Given the description of an element on the screen output the (x, y) to click on. 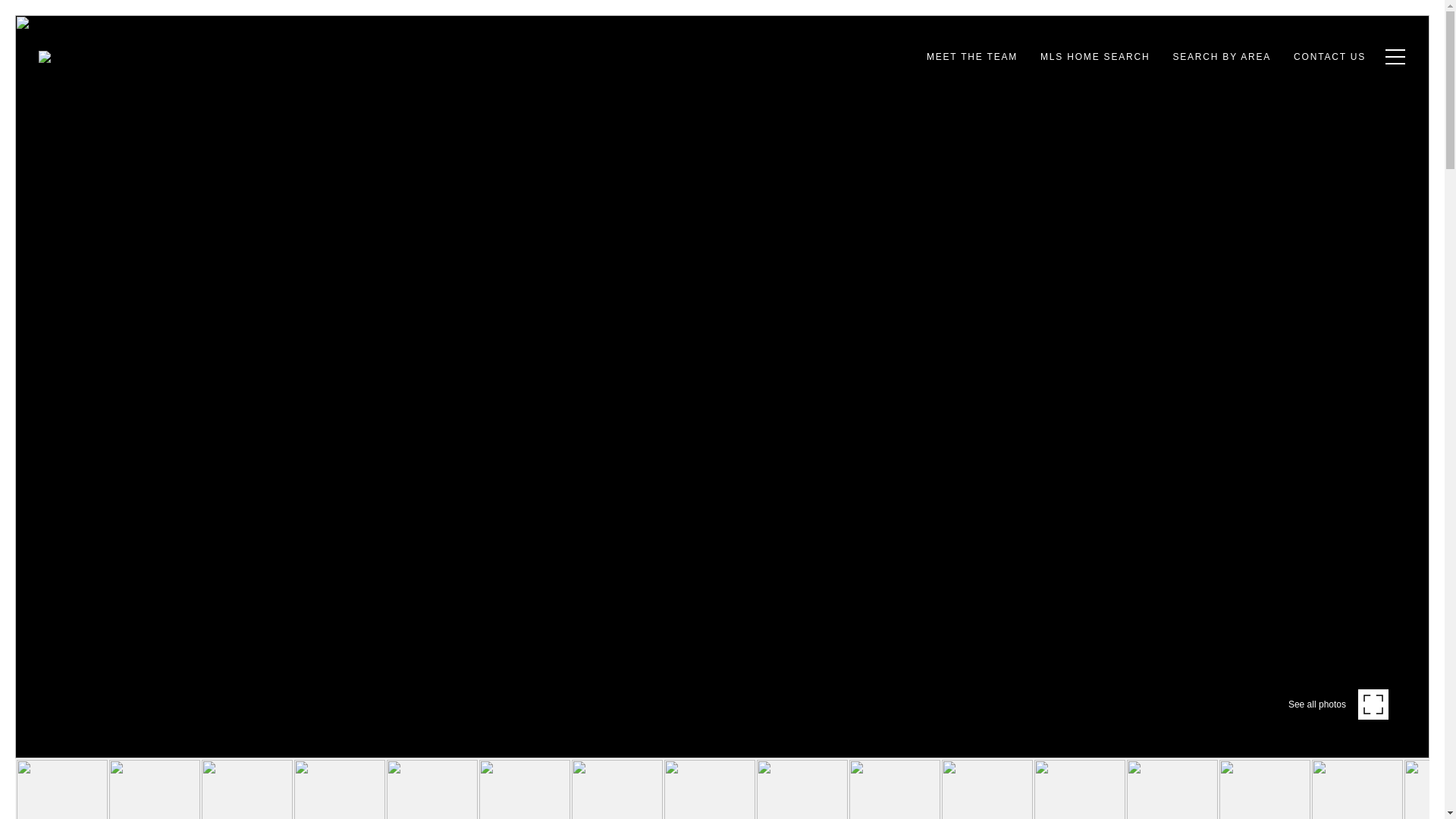
SEARCH BY AREA (1221, 56)
CONTACT US (1329, 56)
MLS HOME SEARCH (1094, 56)
Toggle navigation (1391, 56)
MEET THE TEAM (972, 56)
